Given the description of an element on the screen output the (x, y) to click on. 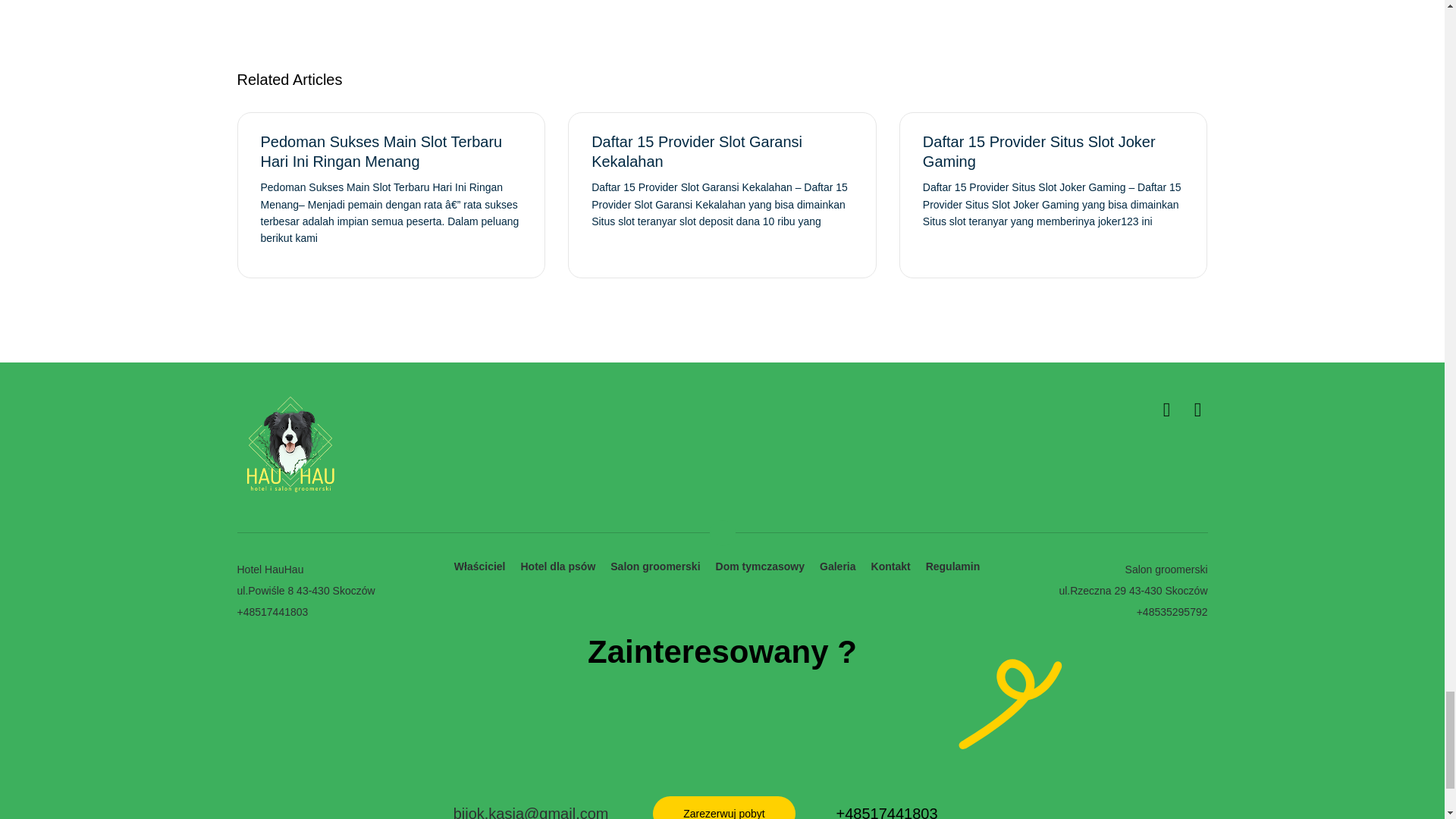
Daftar 15 Provider Situs Slot Joker Gaming (1039, 151)
Dom tymczasowy (760, 566)
Galeria (837, 566)
Kontakt (890, 566)
Zarezerwuj pobyt (723, 807)
Pedoman Sukses Main Slot Terbaru Hari Ini Ringan Menang (381, 151)
Salon groomerski (655, 566)
Regulamin (952, 566)
Daftar 15 Provider Slot Garansi Kekalahan (696, 151)
